Given the description of an element on the screen output the (x, y) to click on. 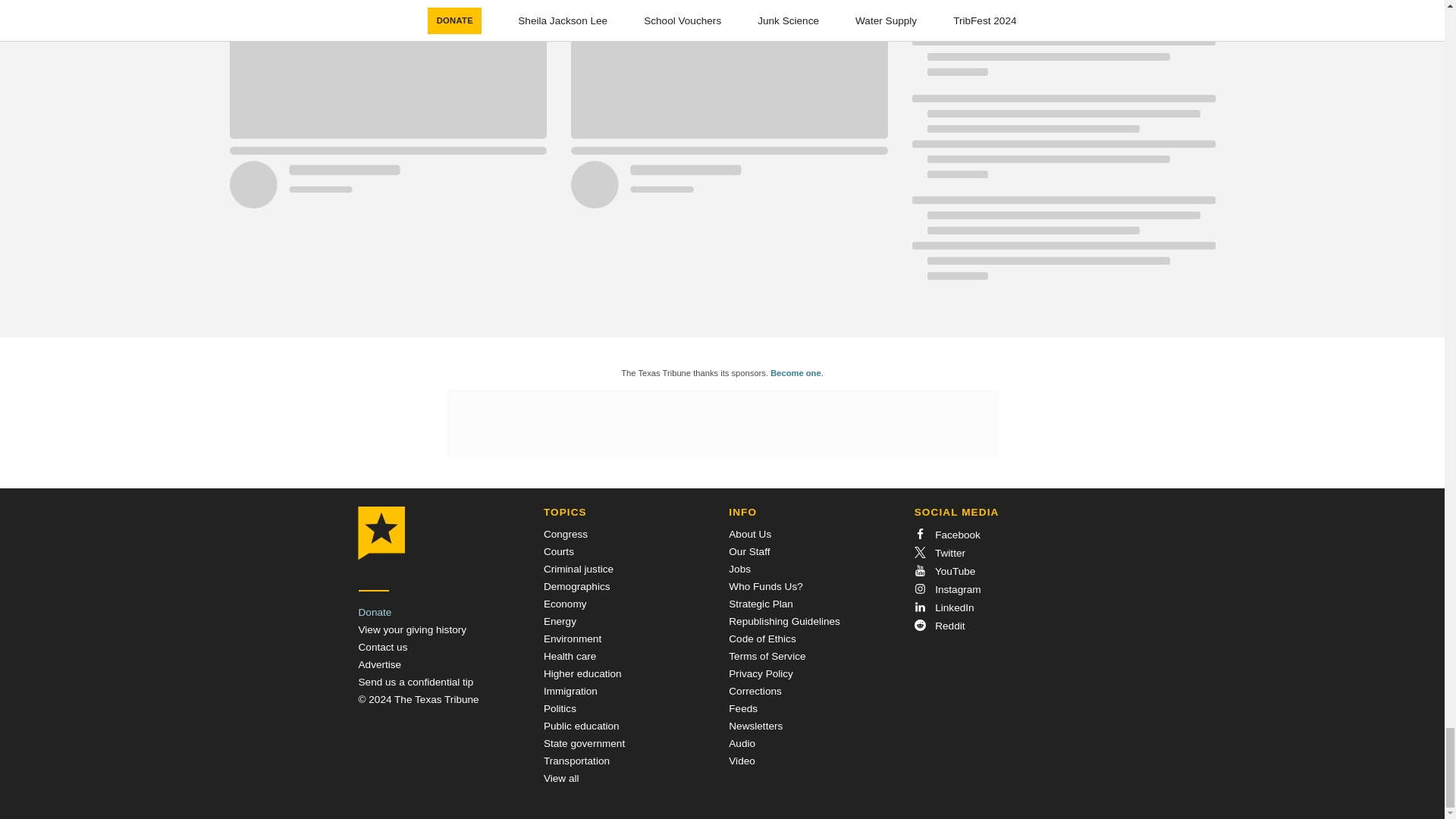
Send a Tip (415, 681)
Feeds (743, 708)
Corrections (755, 690)
Republishing Guidelines (784, 621)
Privacy Policy (761, 673)
Who Funds Us? (765, 586)
View your giving history (411, 629)
Video (742, 760)
Strategic Plan (761, 603)
About Us (750, 533)
Terms of Service (767, 655)
Donate (374, 612)
Advertise (379, 664)
Newsletters (756, 726)
Facebook (946, 534)
